Given the description of an element on the screen output the (x, y) to click on. 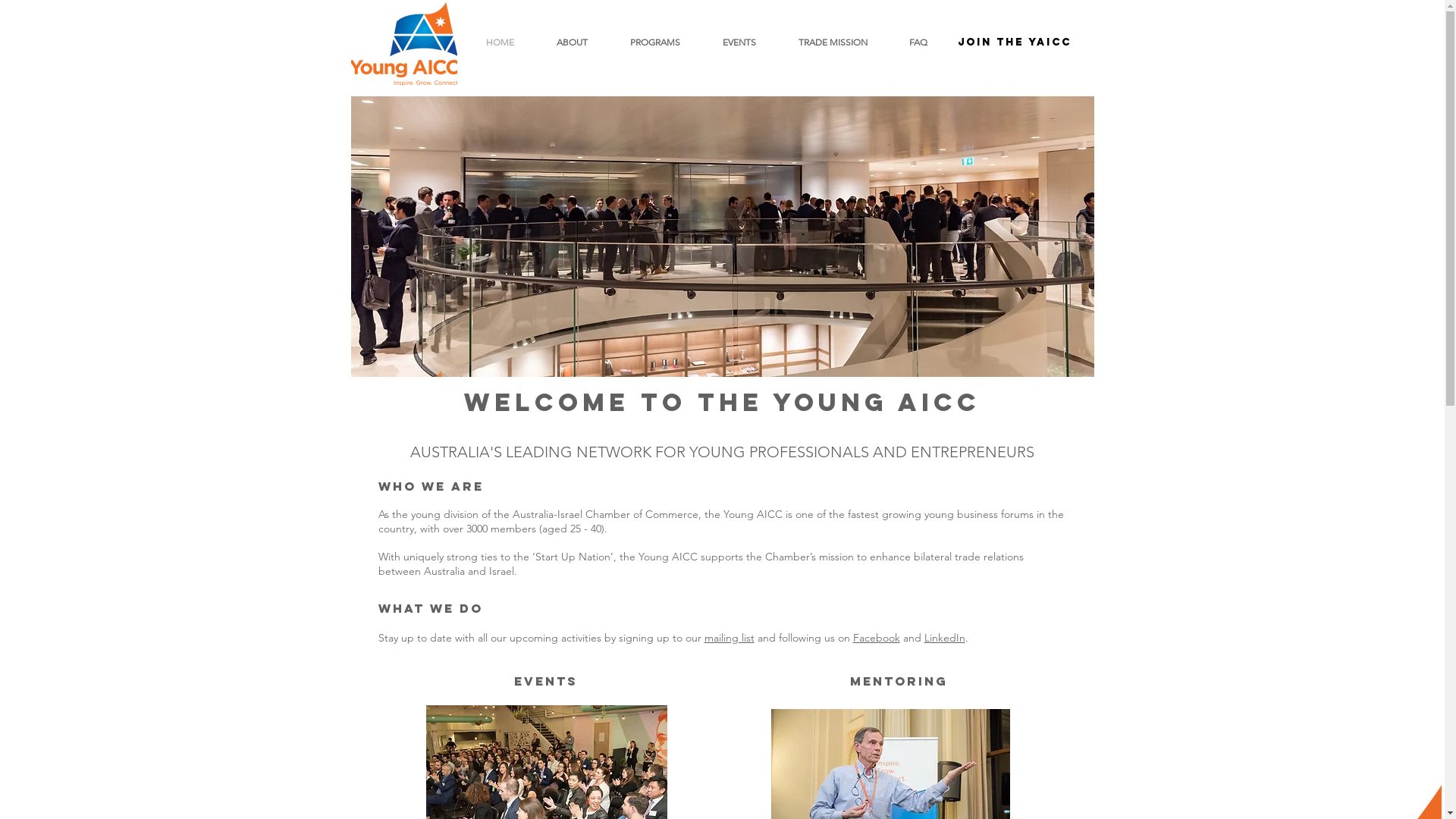
HOME Element type: text (499, 42)
Join the YAICC Element type: text (1013, 42)
FAQ Element type: text (918, 42)
Conversion Popup Element type: hover (722, 15)
LinkedIn Element type: text (943, 637)
TRADE MISSION Element type: text (832, 42)
Jamesmcphersonphotography.com--2.jpg Element type: hover (721, 236)
Conversion Popup Element type: hover (723, 180)
Facebook Element type: text (875, 637)
Young AICC_Logo_Master_CMYK_FA02.png Element type: hover (403, 43)
EVENTS Element type: text (738, 42)
mailing list Element type: text (728, 637)
